Given the description of an element on the screen output the (x, y) to click on. 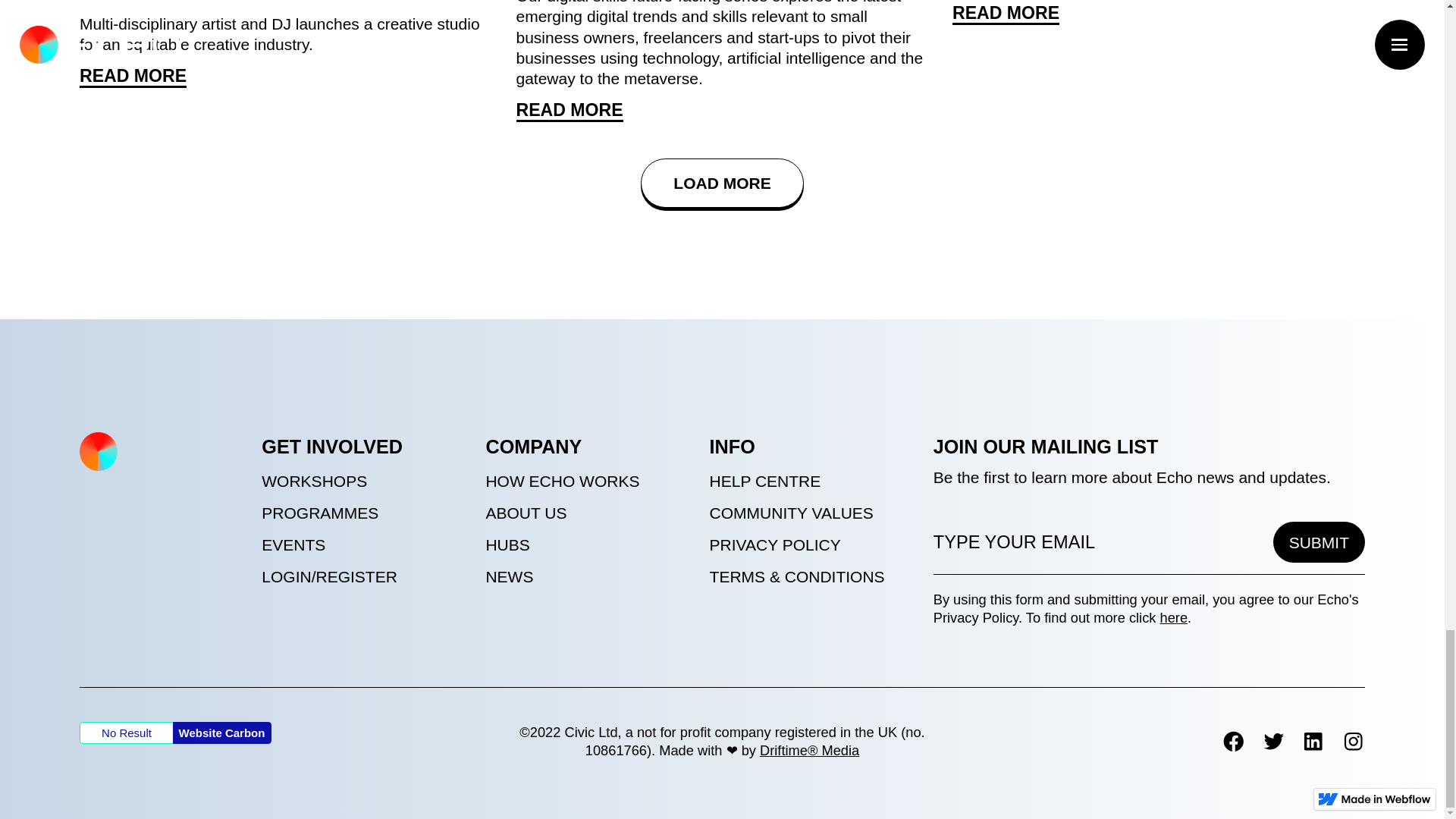
EVENTS (365, 544)
READ MORE (569, 111)
ABOUT US (588, 512)
HUBS (588, 544)
NEWS (588, 576)
PROGRAMMES (365, 512)
LOAD MORE (721, 183)
READ MORE (1005, 14)
HELP CENTRE (813, 480)
READ MORE (133, 76)
